Given the description of an element on the screen output the (x, y) to click on. 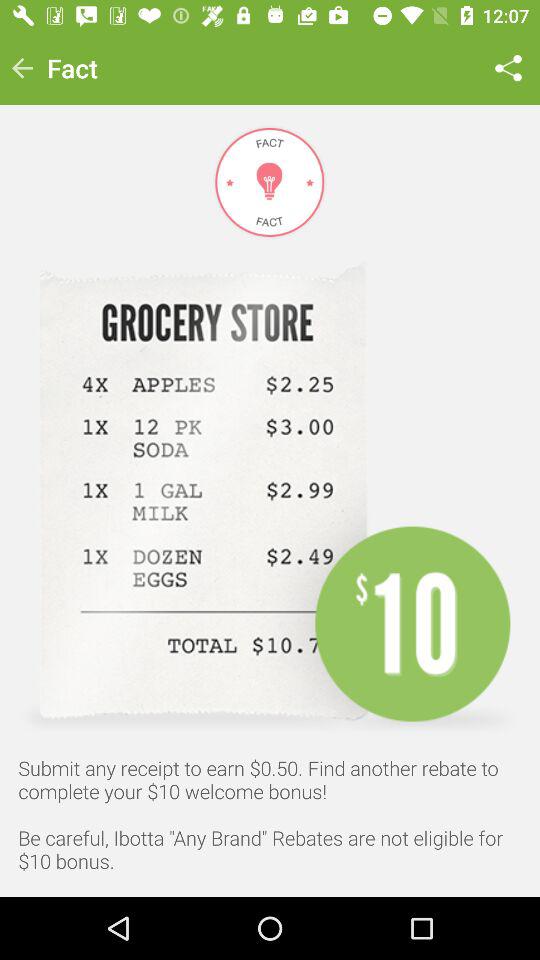
select item next to fact item (508, 67)
